Given the description of an element on the screen output the (x, y) to click on. 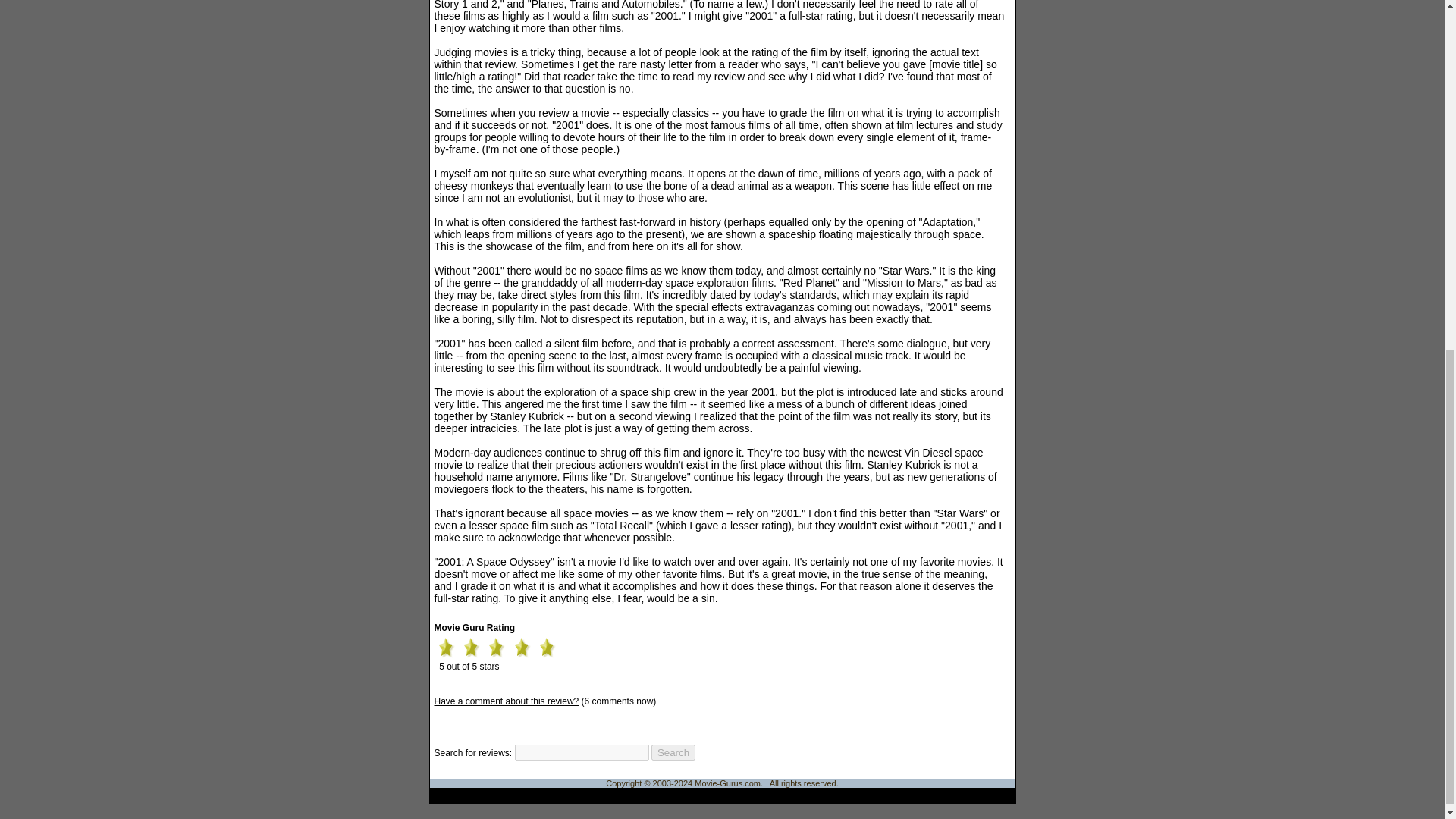
A masterpiece.  An Essential film.  A classic. (470, 647)
A masterpiece.  An Essential film.  A classic. (445, 647)
Search (672, 752)
A masterpiece.  An Essential film.  A classic. (521, 647)
A masterpiece.  An Essential film.  A classic. (495, 647)
A masterpiece.  An Essential film.  A classic. (546, 647)
